Given the description of an element on the screen output the (x, y) to click on. 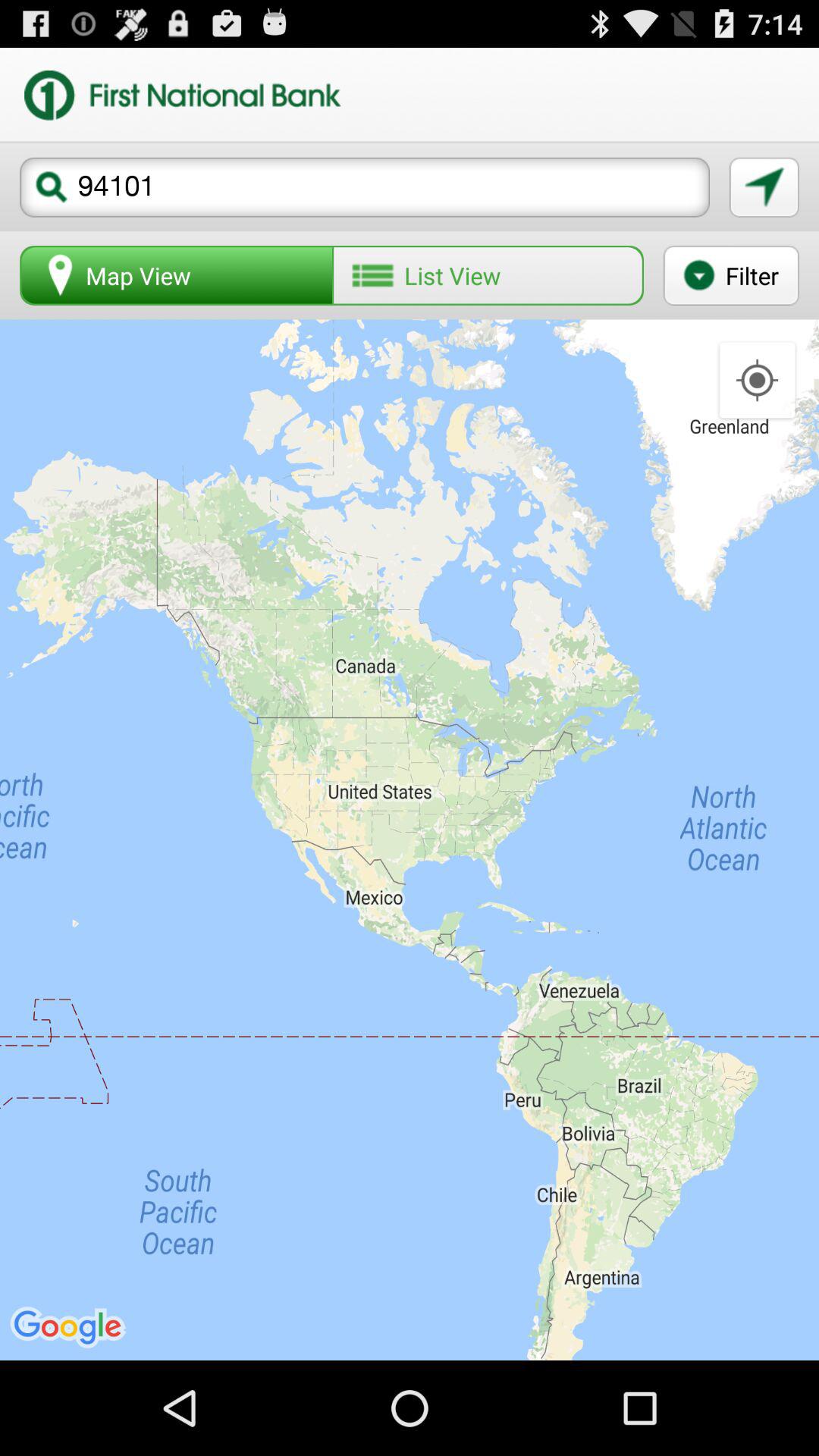
click list view icon (487, 275)
